Given the description of an element on the screen output the (x, y) to click on. 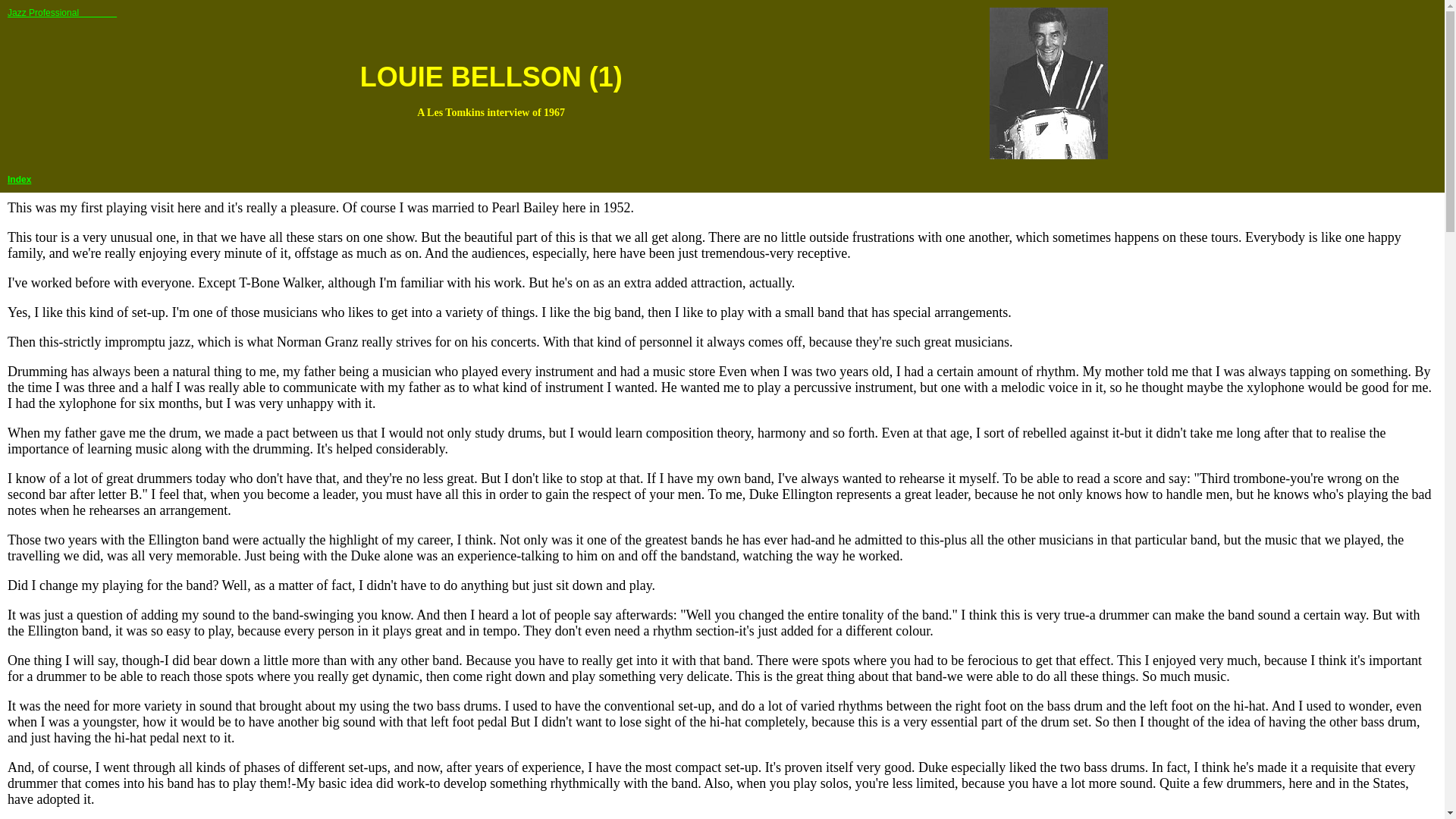
Jazz Professional                (61, 11)
Index (18, 177)
